Given the description of an element on the screen output the (x, y) to click on. 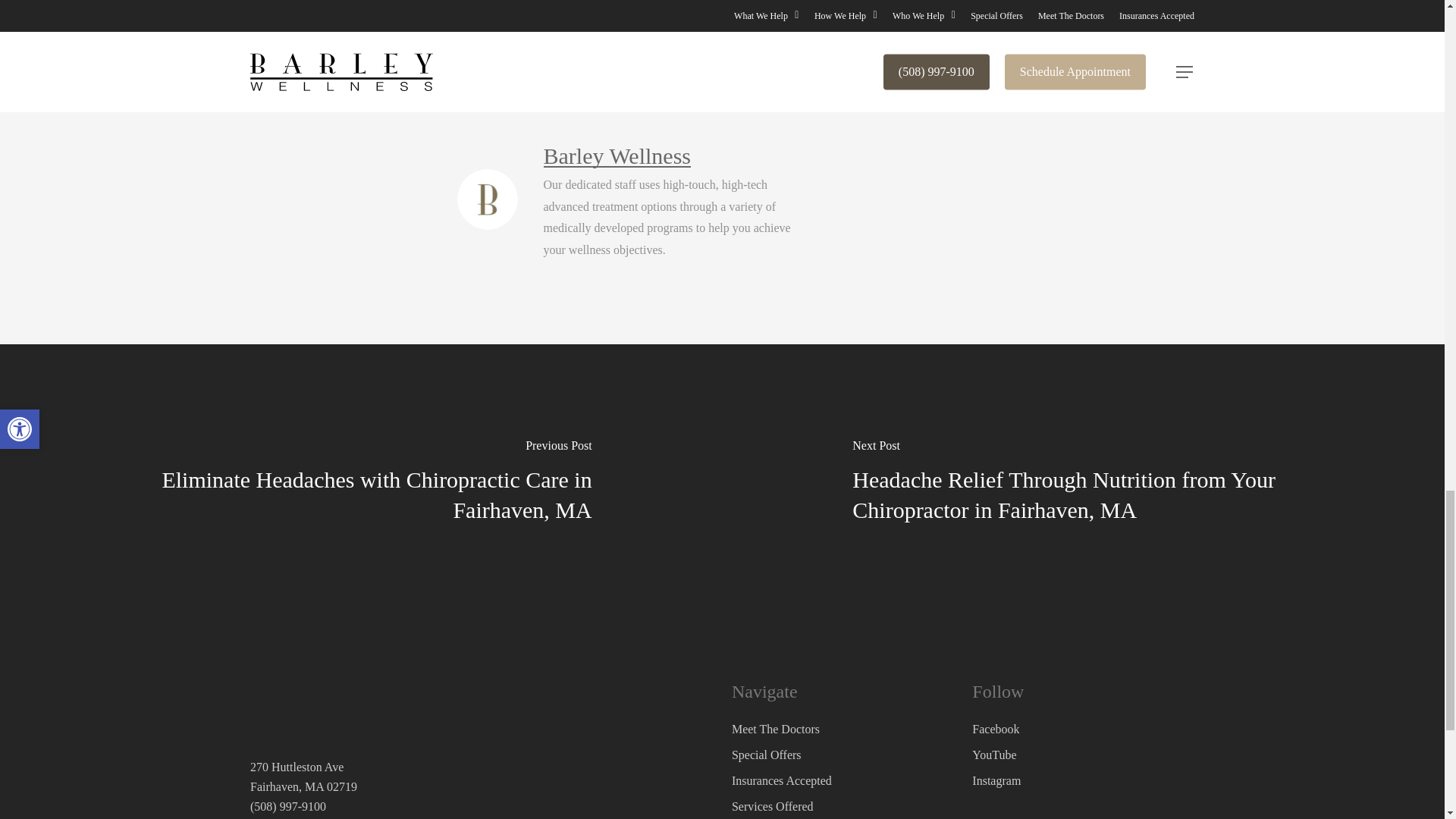
Share this (687, 42)
Pin this (776, 42)
Tweet this (593, 42)
Share this (498, 42)
